Given the description of an element on the screen output the (x, y) to click on. 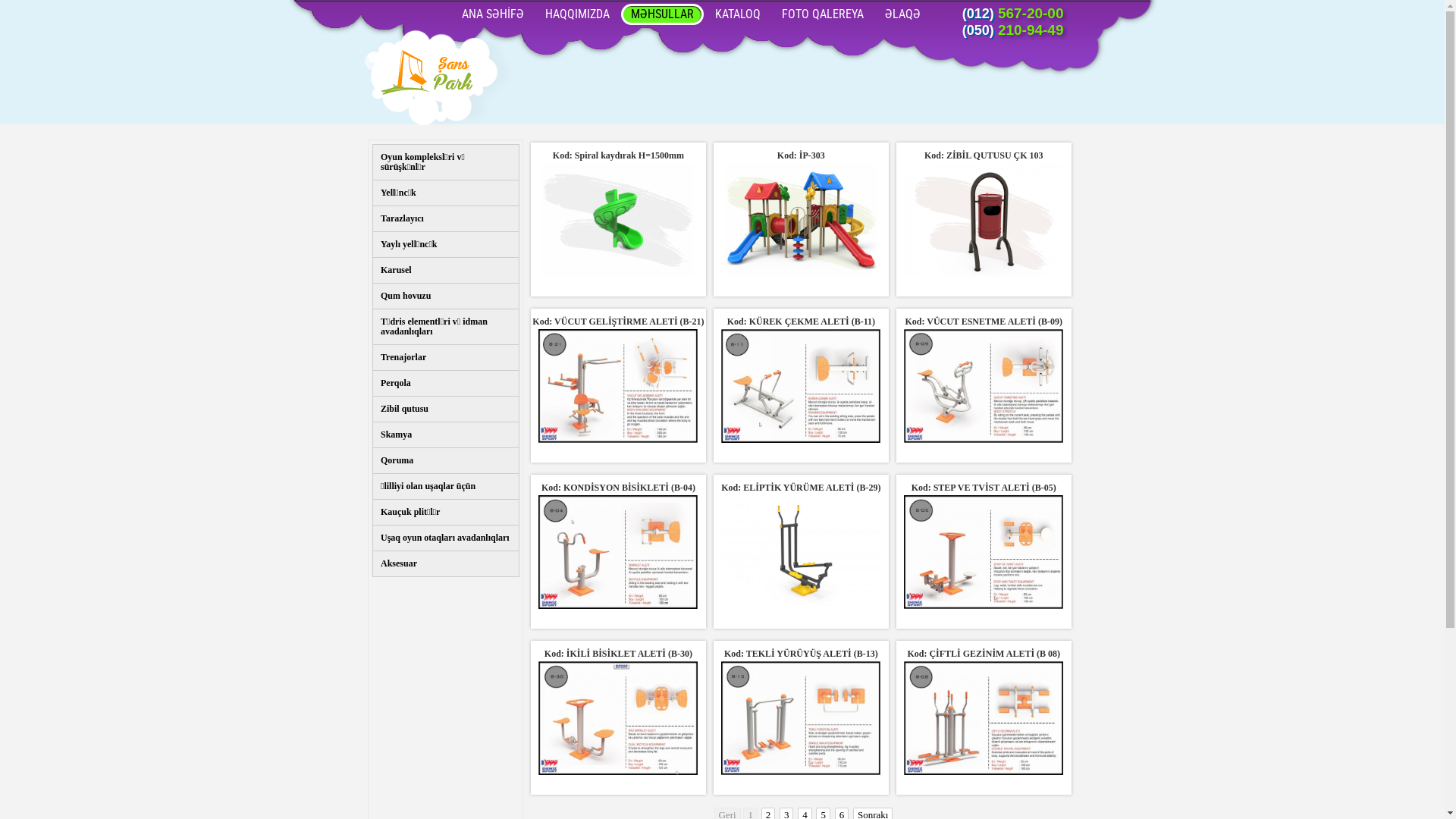
FOTO QALEREYA Element type: text (822, 14)
ShansPark Element type: text (428, 77)
Karusel Element type: text (445, 269)
KATALOQ Element type: text (737, 14)
Perqola Element type: text (445, 382)
HAQQIMIZDA Element type: text (577, 14)
Zibil qutusu Element type: text (445, 408)
Qum hovuzu Element type: text (445, 295)
Trenajorlar Element type: text (445, 357)
Aksesuar Element type: text (445, 563)
Skamya Element type: text (445, 434)
Qoruma Element type: text (445, 460)
